Given the description of an element on the screen output the (x, y) to click on. 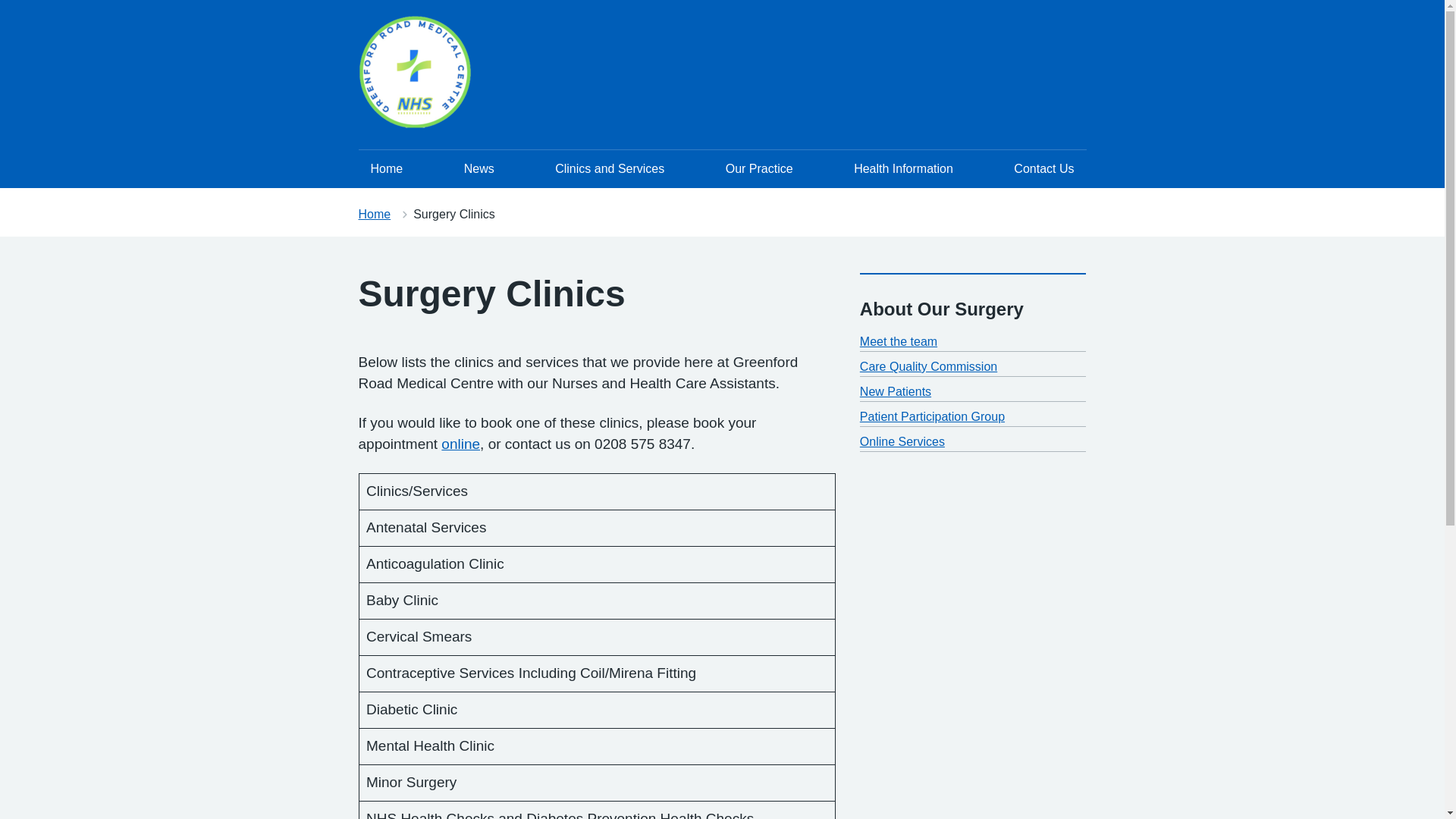
Health Information (903, 168)
Online Services (902, 440)
Home (374, 214)
Patient Participation Group (932, 416)
News (478, 168)
Meet the team (898, 341)
Clinics and Services (610, 168)
New Patients (895, 391)
online (460, 443)
Our Practice (759, 168)
Home (386, 168)
Care Quality Commission (928, 366)
Contact Us (1043, 168)
